Given the description of an element on the screen output the (x, y) to click on. 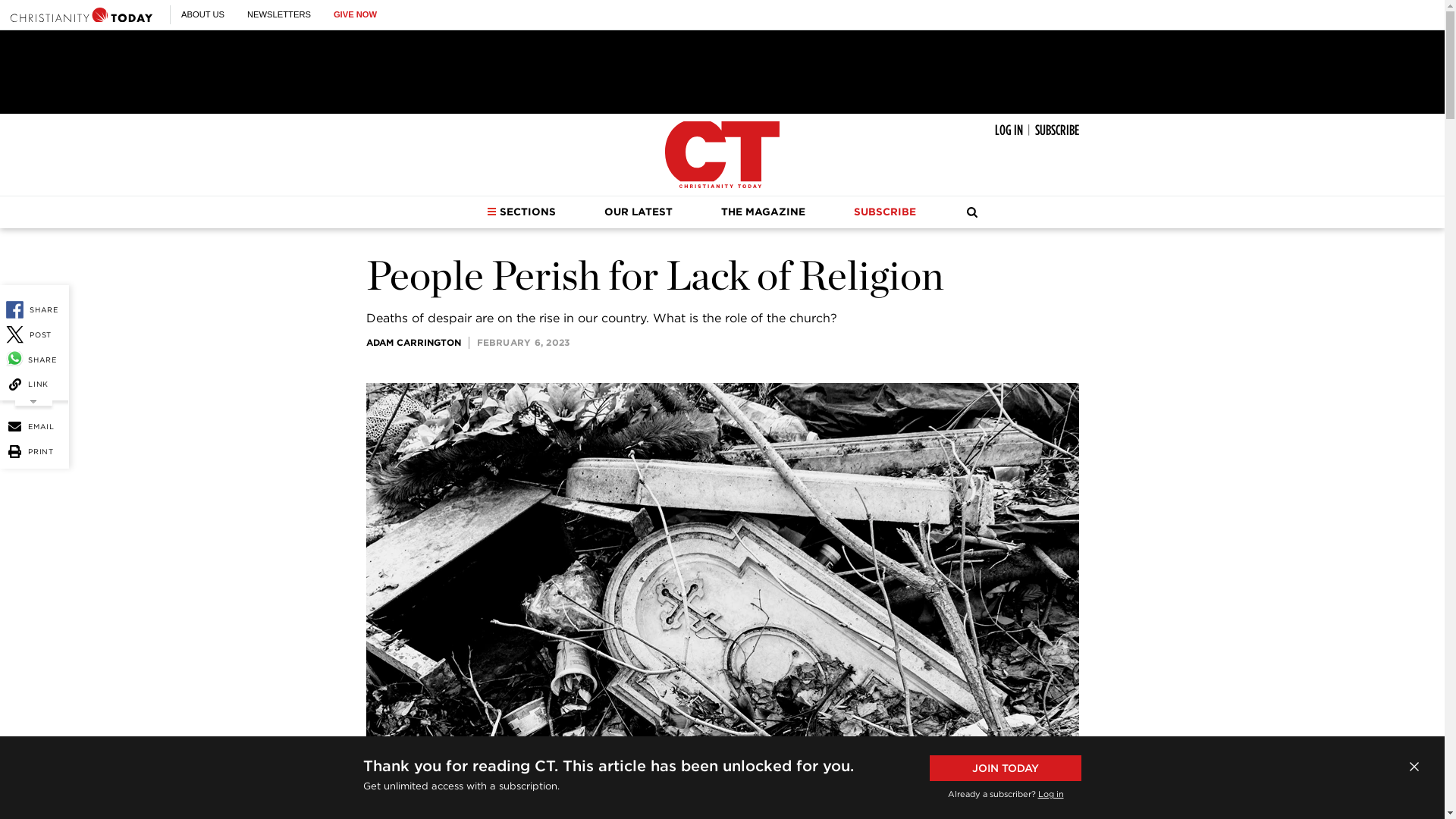
Christianity Today (721, 154)
NEWSLETTERS (278, 14)
3rd party ad content (721, 71)
GIVE NOW (355, 14)
LOG IN (1008, 130)
Sections Dropdown (491, 211)
SECTIONS (521, 212)
SUBSCRIBE (1055, 130)
ABOUT US (202, 14)
Christianity Today (81, 14)
